Given the description of an element on the screen output the (x, y) to click on. 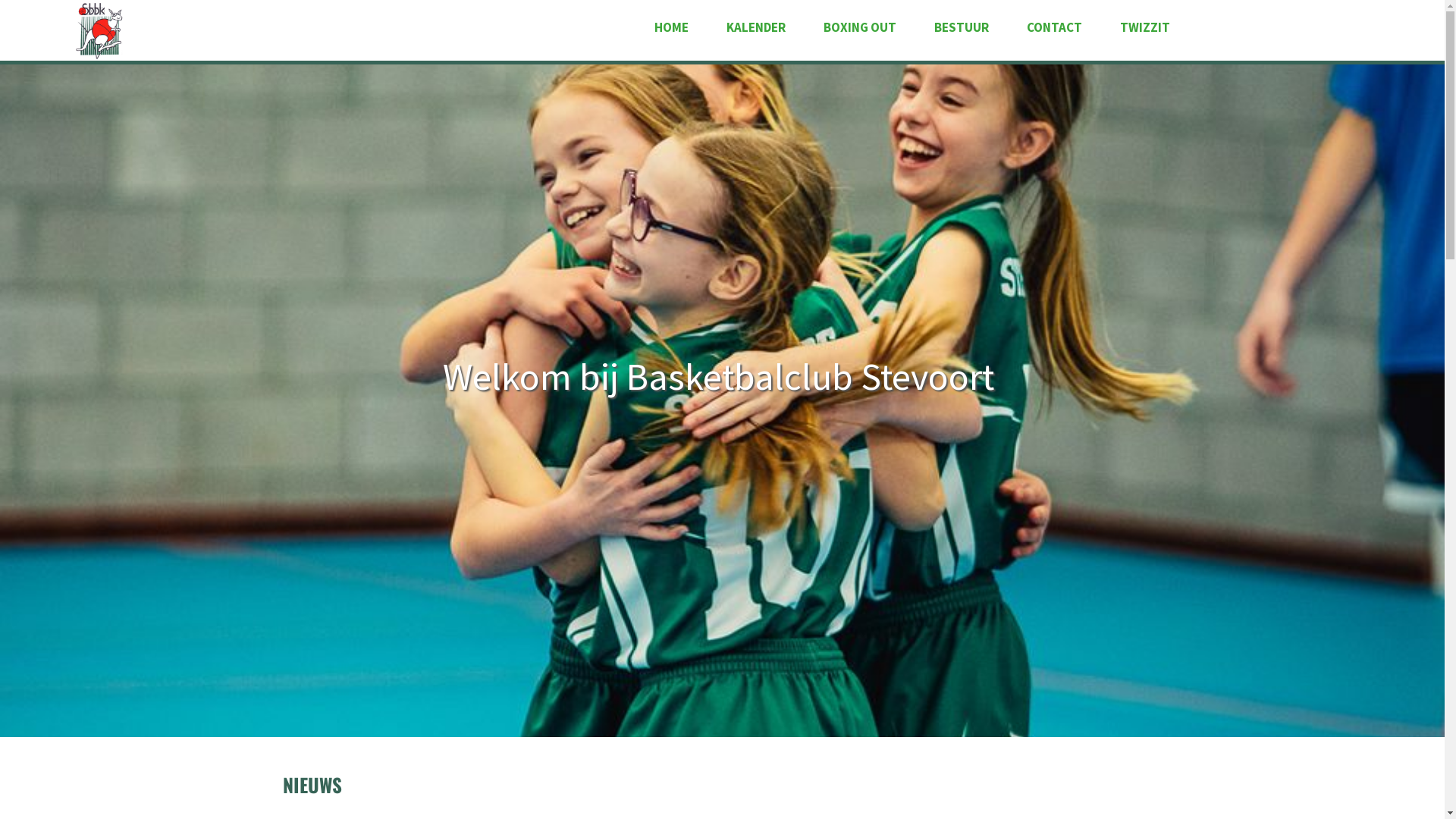
HOME Element type: text (670, 27)
BESTUUR Element type: text (961, 27)
TWIZZIT Element type: text (1144, 27)
BOXING OUT Element type: text (859, 27)
KALENDER Element type: text (755, 27)
CONTACT Element type: text (1054, 27)
